Given the description of an element on the screen output the (x, y) to click on. 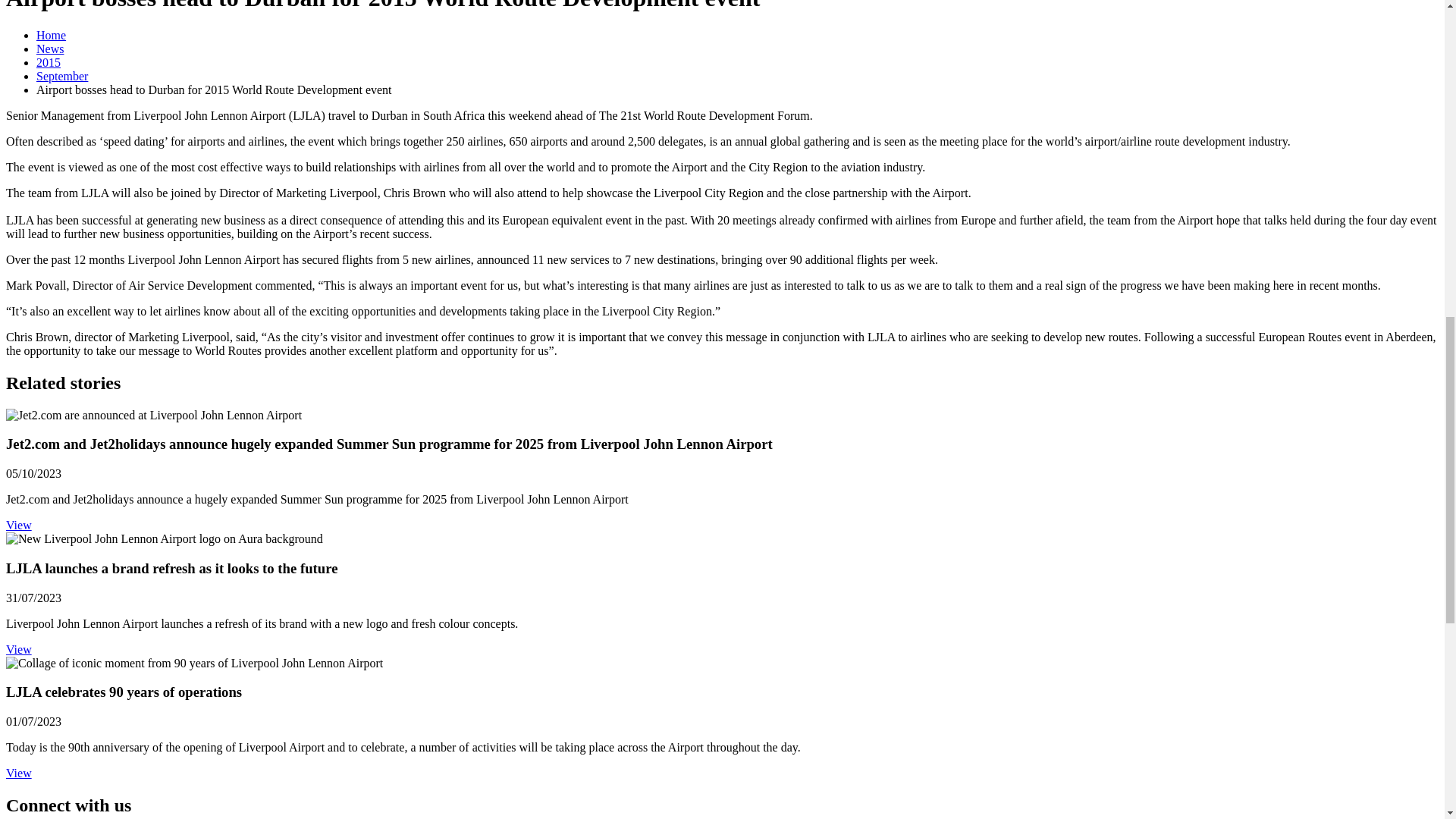
2015 (48, 62)
News (50, 48)
Home (50, 34)
September (61, 75)
